Given the description of an element on the screen output the (x, y) to click on. 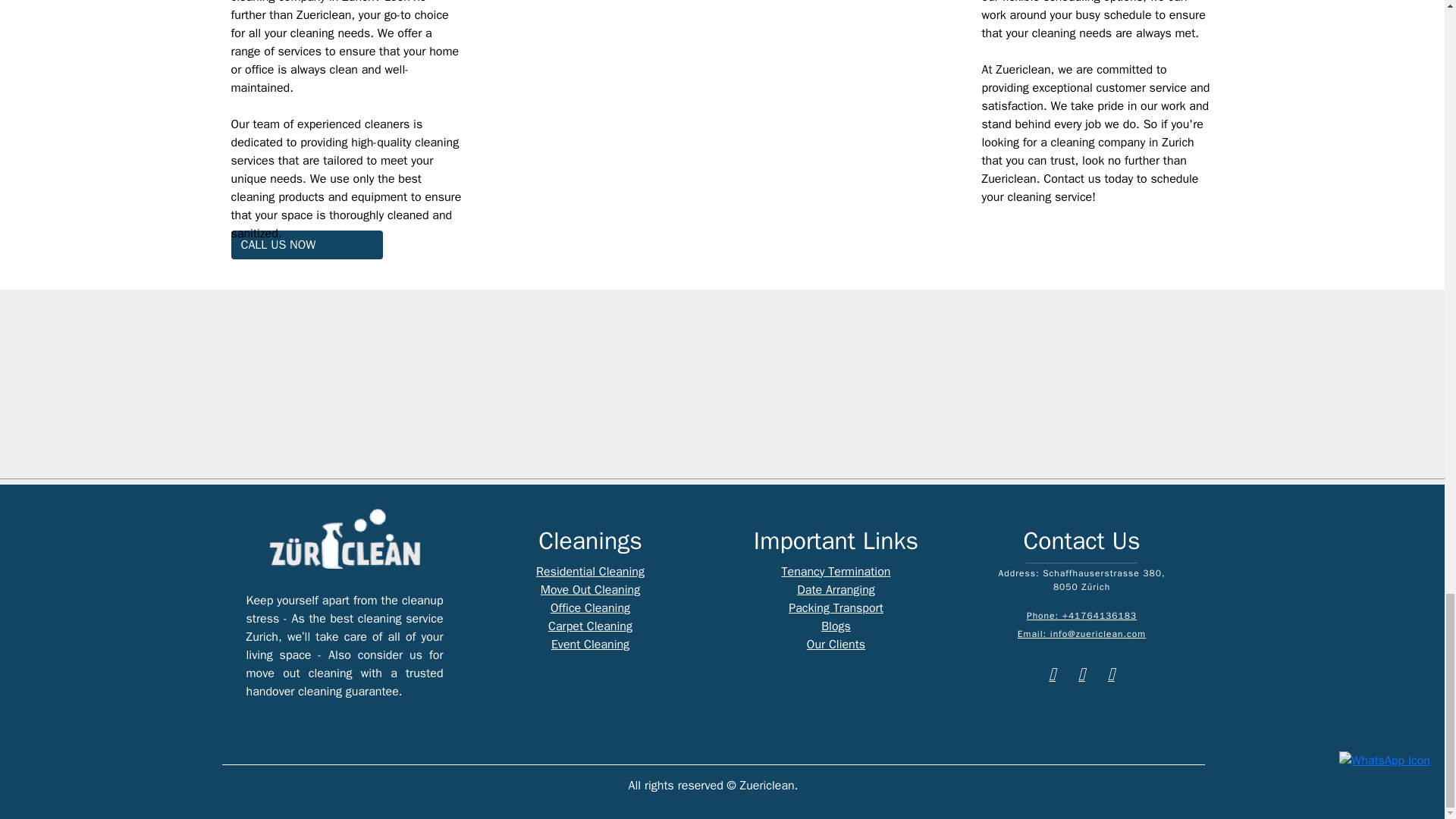
CALL US NOW (305, 244)
Residential Cleaning (590, 571)
Move Out Cleaning (590, 589)
